Given the description of an element on the screen output the (x, y) to click on. 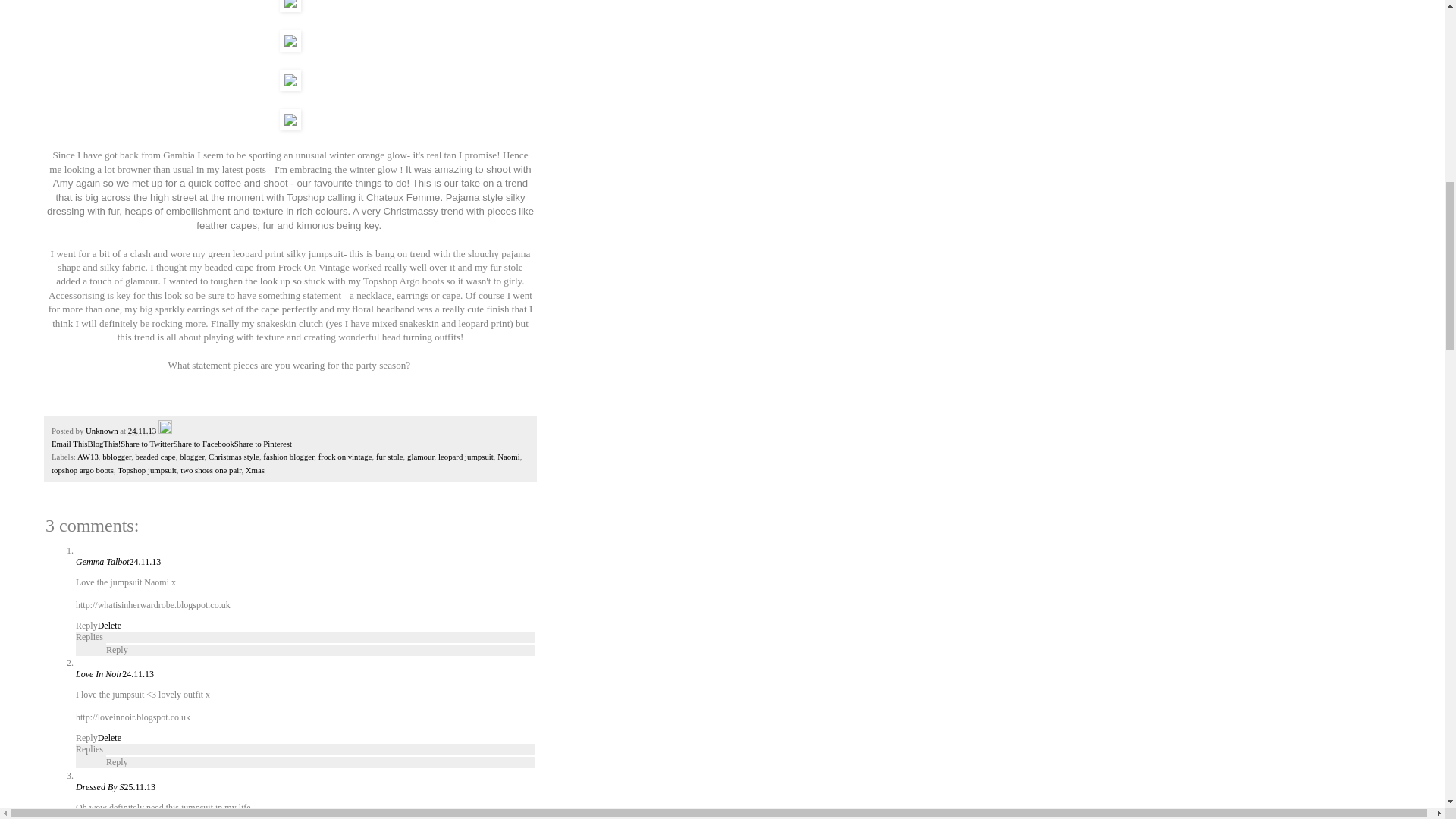
blogger (192, 456)
topshop argo boots (81, 470)
fashion blogger (288, 456)
leopard jumpsuit (465, 456)
Naomi (508, 456)
Email This (68, 442)
Christmas style (233, 456)
Edit Post (164, 429)
Xmas (255, 470)
Unknown (102, 429)
Share to Pinterest (263, 442)
frock on vintage (345, 456)
Topshop jumpsuit (146, 470)
Share to Twitter (146, 442)
two shoes one pair (210, 470)
